Given the description of an element on the screen output the (x, y) to click on. 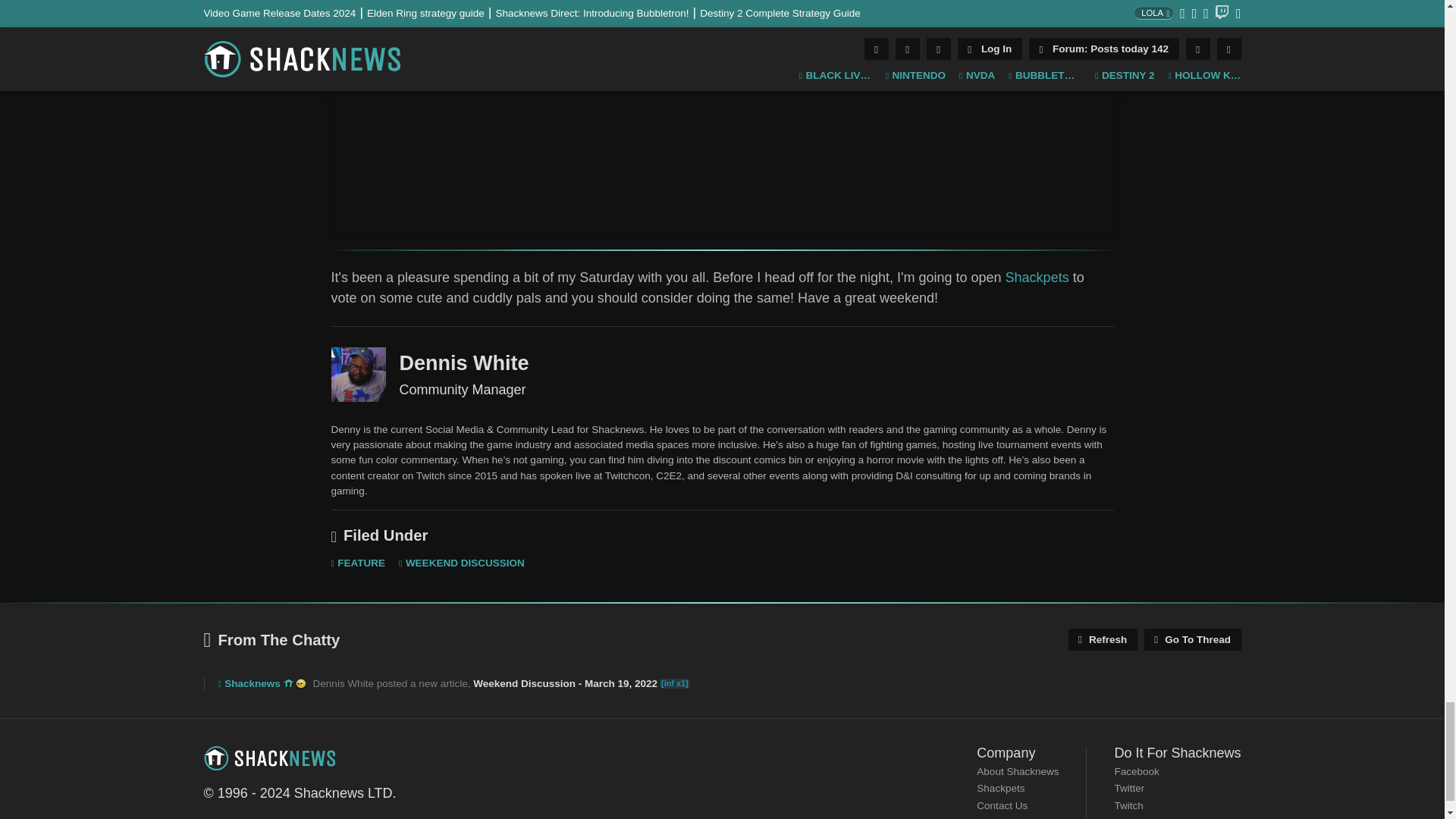
legacy 20 years (300, 683)
Community Manager (357, 374)
legacy 10 years (288, 683)
